Given the description of an element on the screen output the (x, y) to click on. 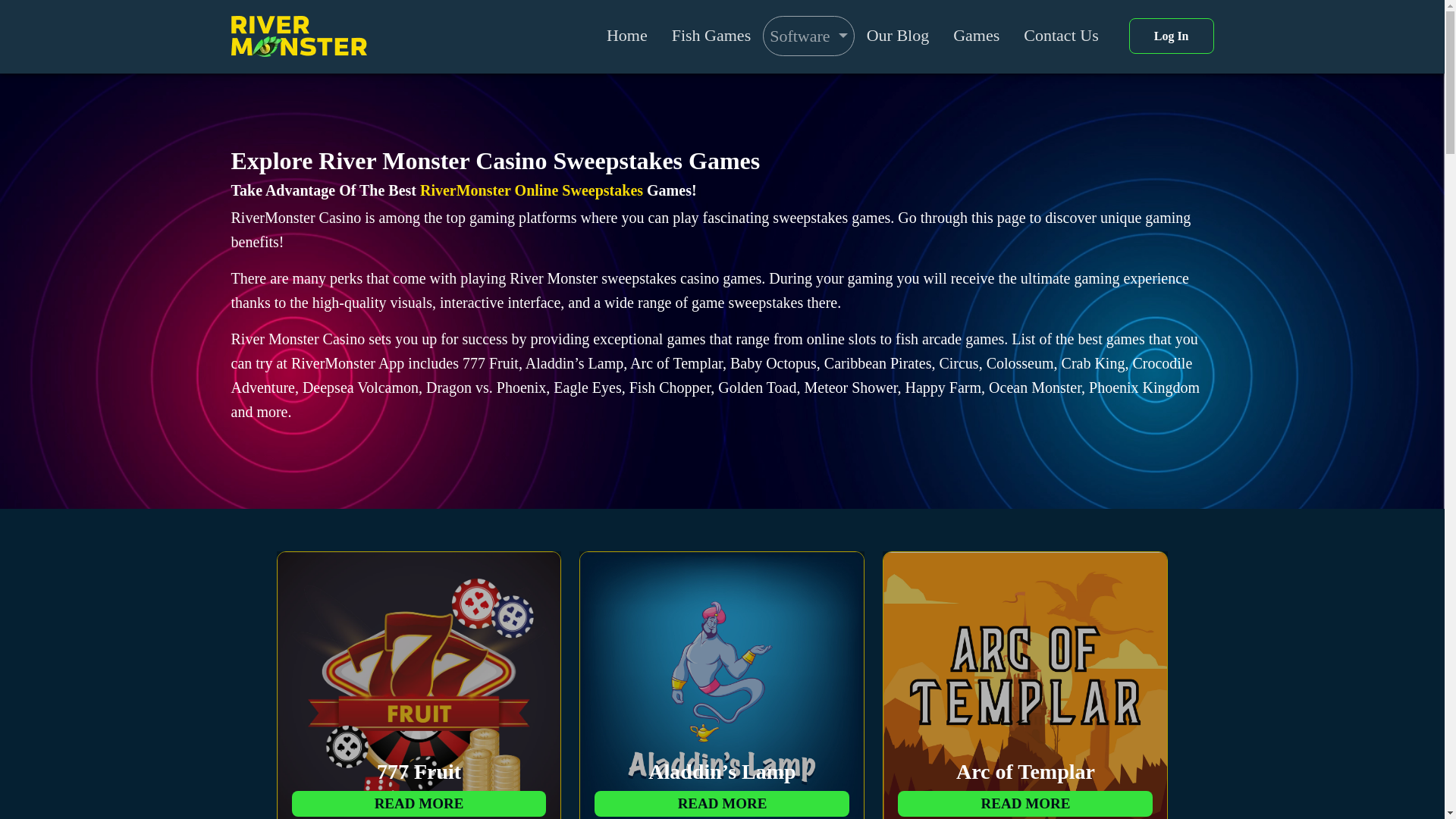
Contact Us (1060, 34)
Our Blog (898, 34)
Games (418, 691)
Software (975, 34)
Fish Games (1024, 691)
Home (808, 35)
Log In (710, 34)
